Given the description of an element on the screen output the (x, y) to click on. 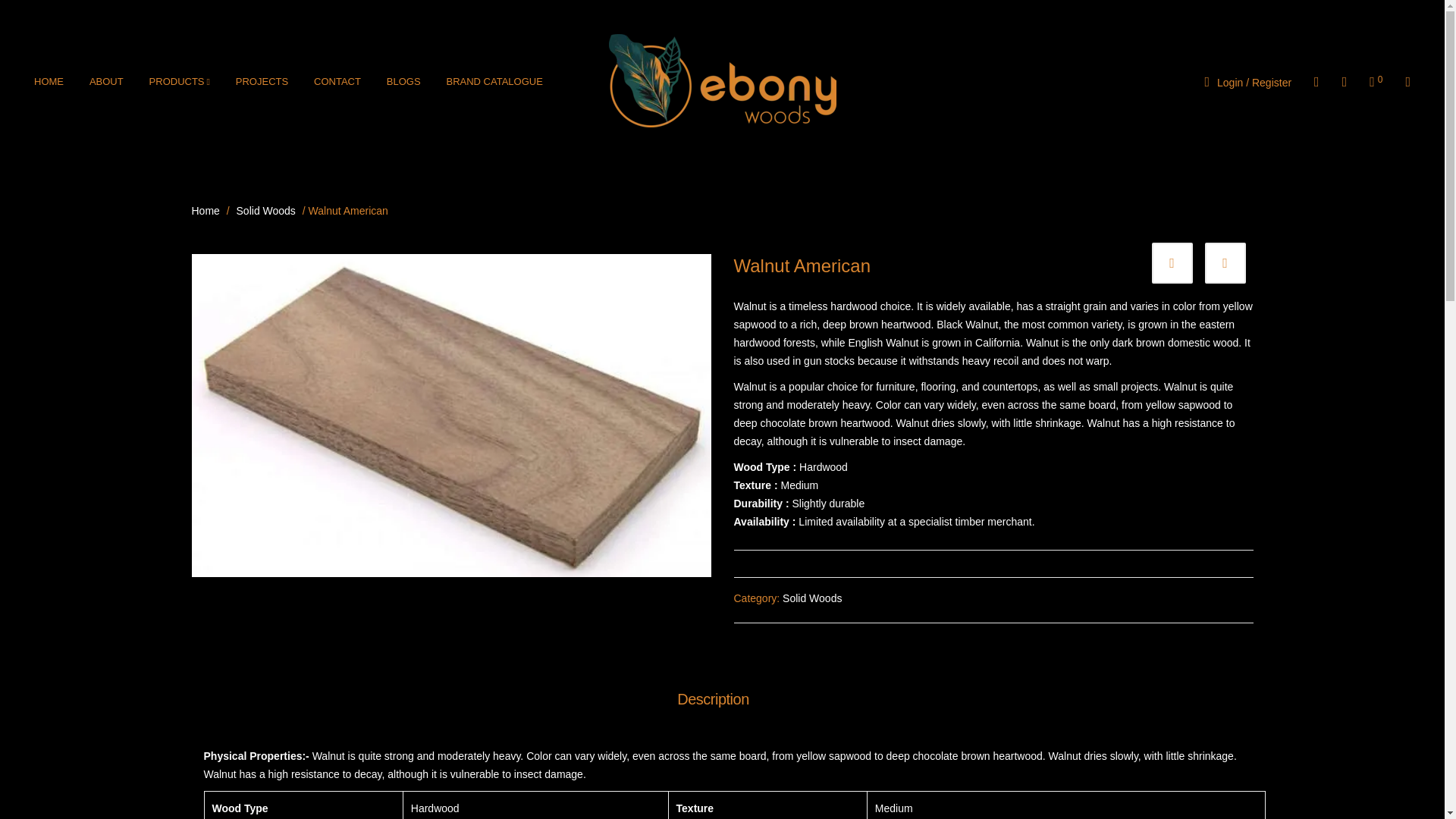
PROJECTS (261, 81)
BRAND CATALOGUE (494, 81)
Solid Woods (812, 598)
Ebony Woods (721, 79)
Solid Woods (265, 210)
Home (206, 210)
CONTACT (337, 81)
BLOGS (403, 81)
ABOUT (106, 81)
Compare (1171, 262)
PRODUCTS (179, 81)
Description (713, 698)
